Given the description of an element on the screen output the (x, y) to click on. 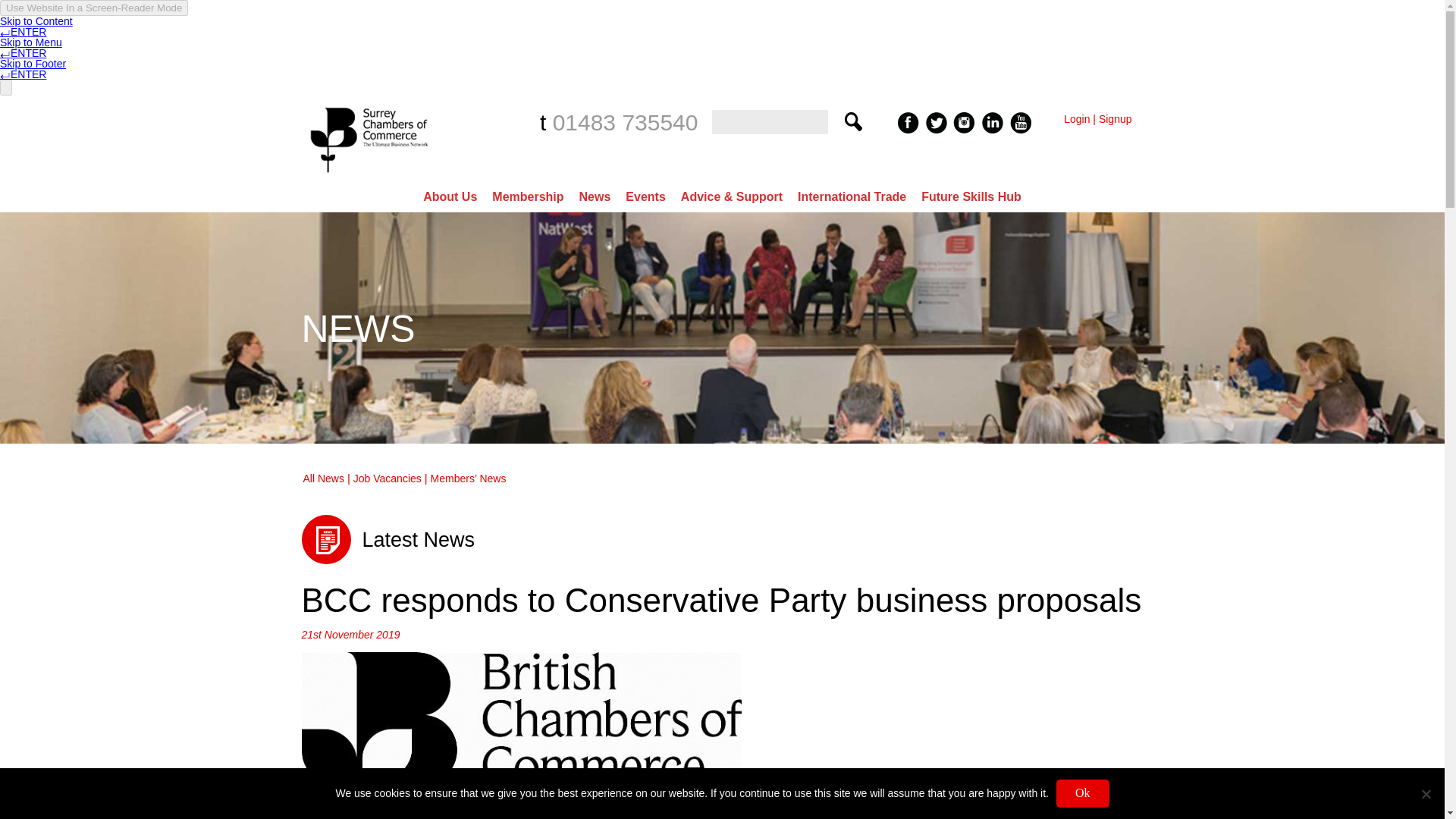
Signup (1115, 119)
Login (1076, 119)
Membership (527, 196)
01483 735540 (625, 122)
Surrey Chambers (371, 176)
No (1425, 792)
About Us (449, 196)
